Given the description of an element on the screen output the (x, y) to click on. 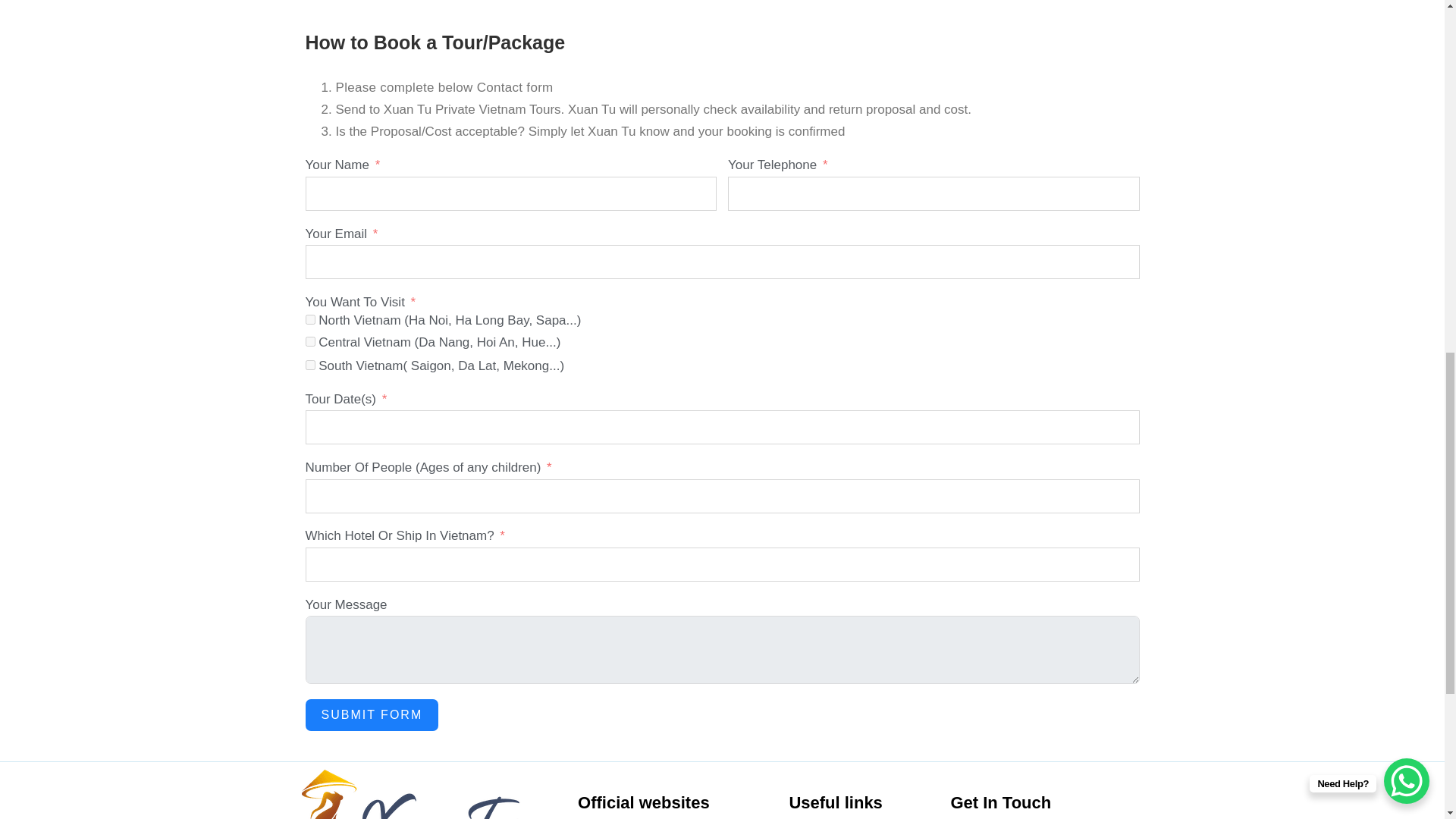
SUBMIT FORM (371, 715)
